Given the description of an element on the screen output the (x, y) to click on. 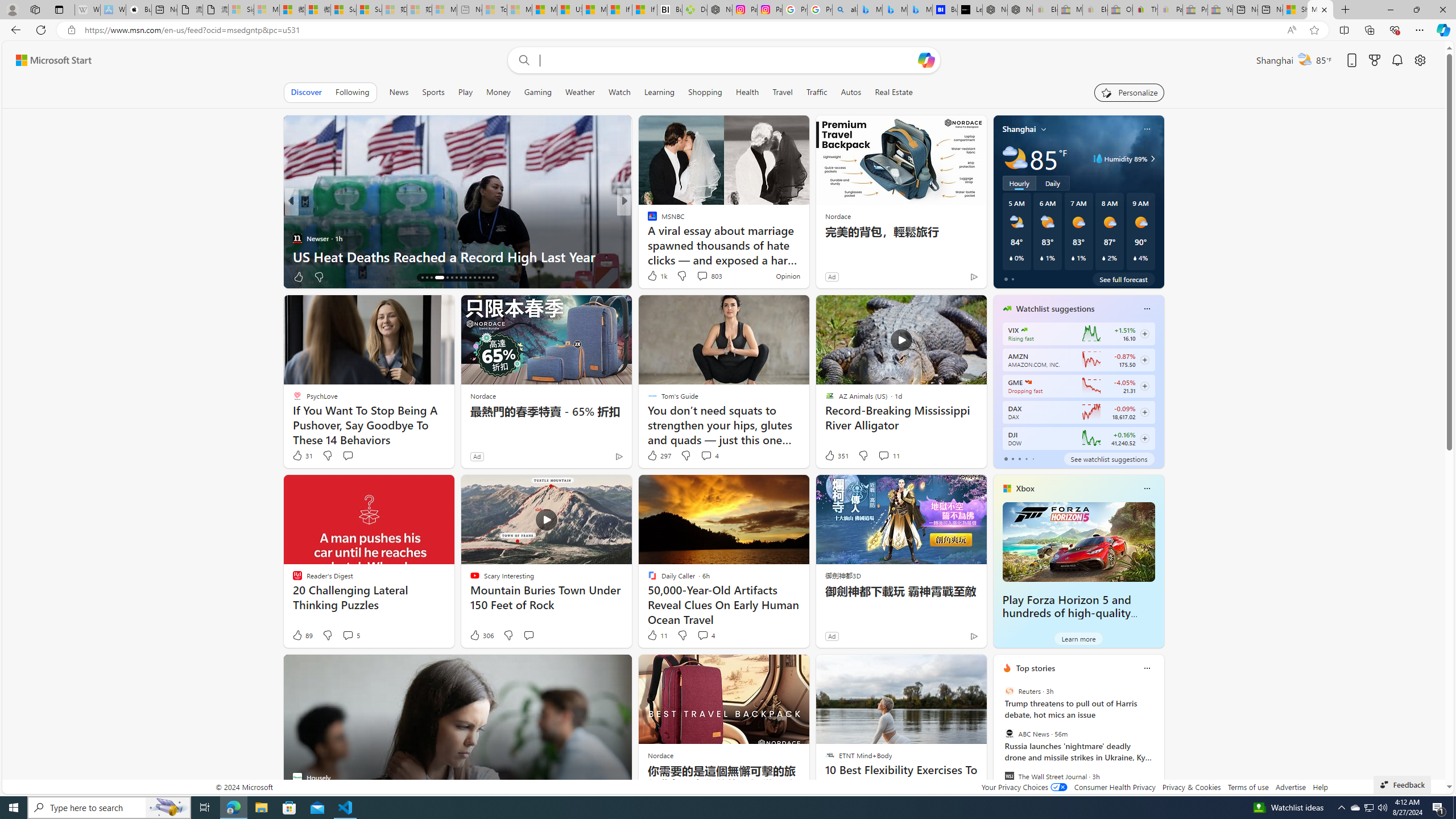
View comments 65 Comment (707, 276)
Press Room - eBay Inc. - Sleeping (1194, 9)
AutomationID: tab-22 (456, 277)
AutomationID: tab-16 (422, 277)
